Given the description of an element on the screen output the (x, y) to click on. 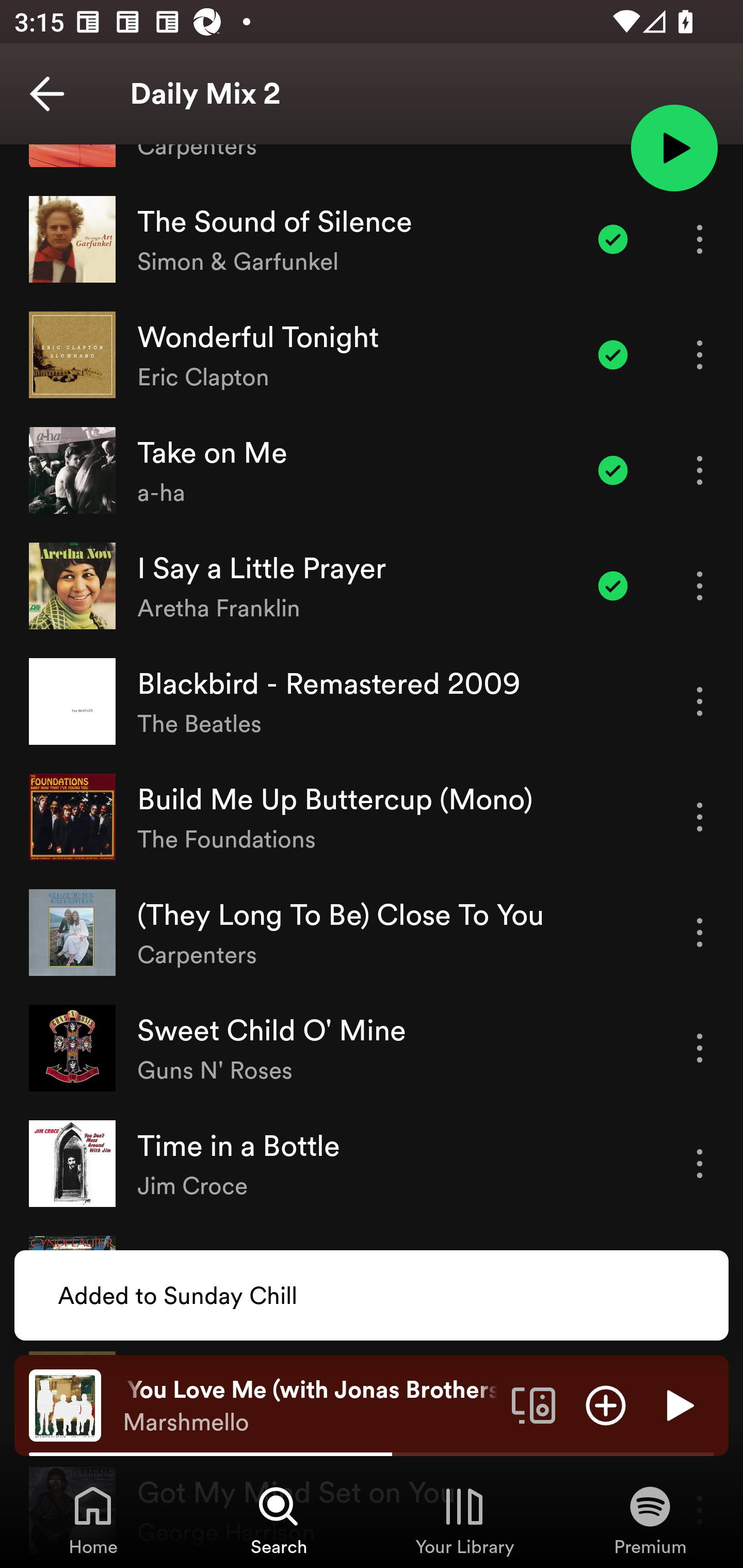
Back (46, 93)
Play playlist (674, 147)
Item added (612, 239)
More options for song The Sound of Silence (699, 239)
Item added (612, 355)
More options for song Wonderful Tonight (699, 355)
Item added (612, 470)
More options for song Take on Me (699, 470)
Item added (612, 585)
More options for song I Say a Little Prayer (699, 585)
More options for song Blackbird - Remastered 2009 (699, 701)
More options for song Build Me Up Buttercup (Mono) (699, 816)
